Given the description of an element on the screen output the (x, y) to click on. 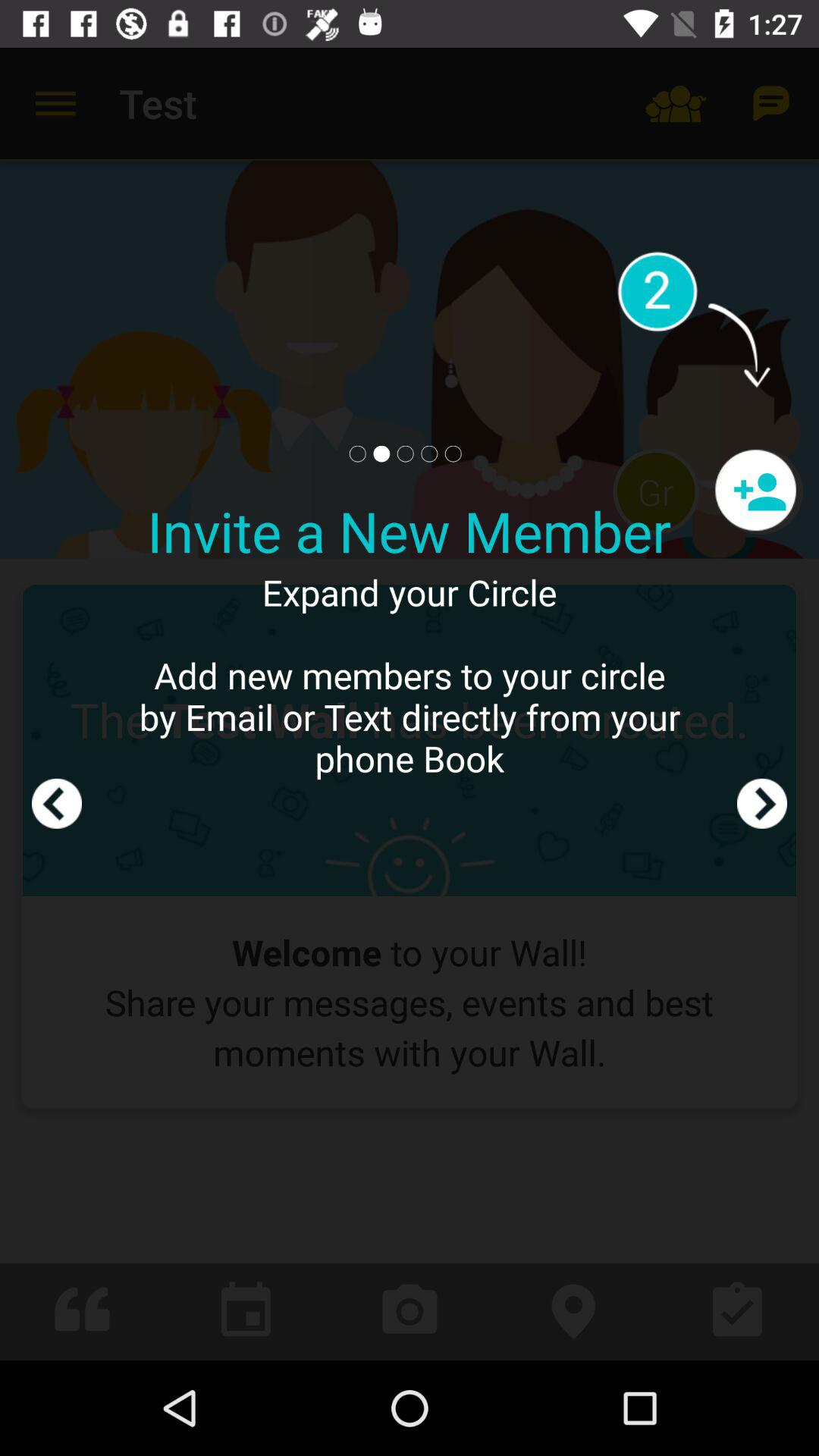
view next slide (762, 703)
